Given the description of an element on the screen output the (x, y) to click on. 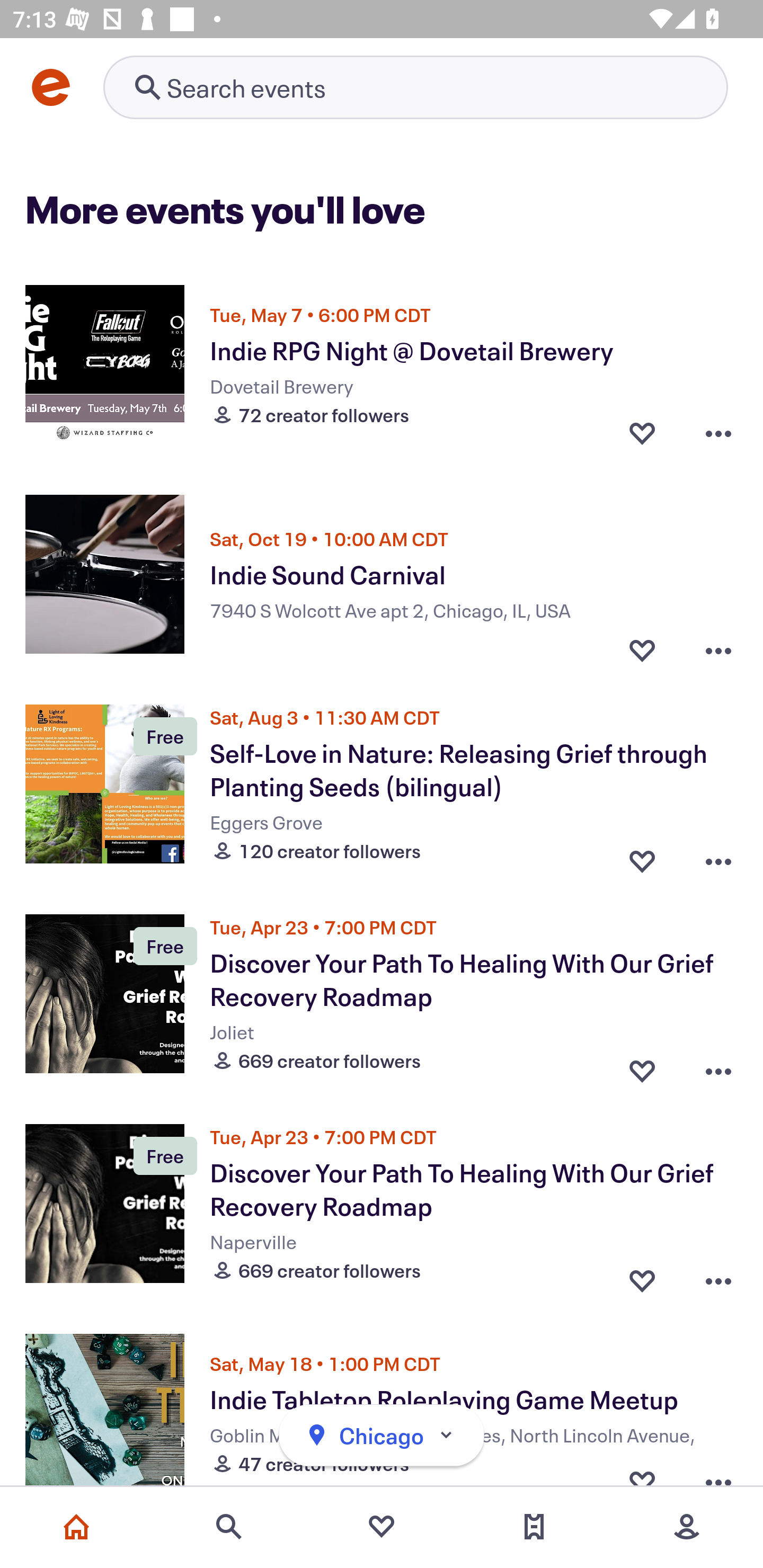
Retry's image Search events (415, 86)
Favorite button (642, 431)
Overflow menu button (718, 431)
Favorite button (642, 645)
Overflow menu button (718, 645)
Favorite button (642, 856)
Overflow menu button (718, 856)
Favorite button (642, 1066)
Overflow menu button (718, 1066)
Favorite button (642, 1275)
Overflow menu button (718, 1275)
Chicago (381, 1435)
Home (76, 1526)
Search events (228, 1526)
Favorites (381, 1526)
Tickets (533, 1526)
More (686, 1526)
